Given the description of an element on the screen output the (x, y) to click on. 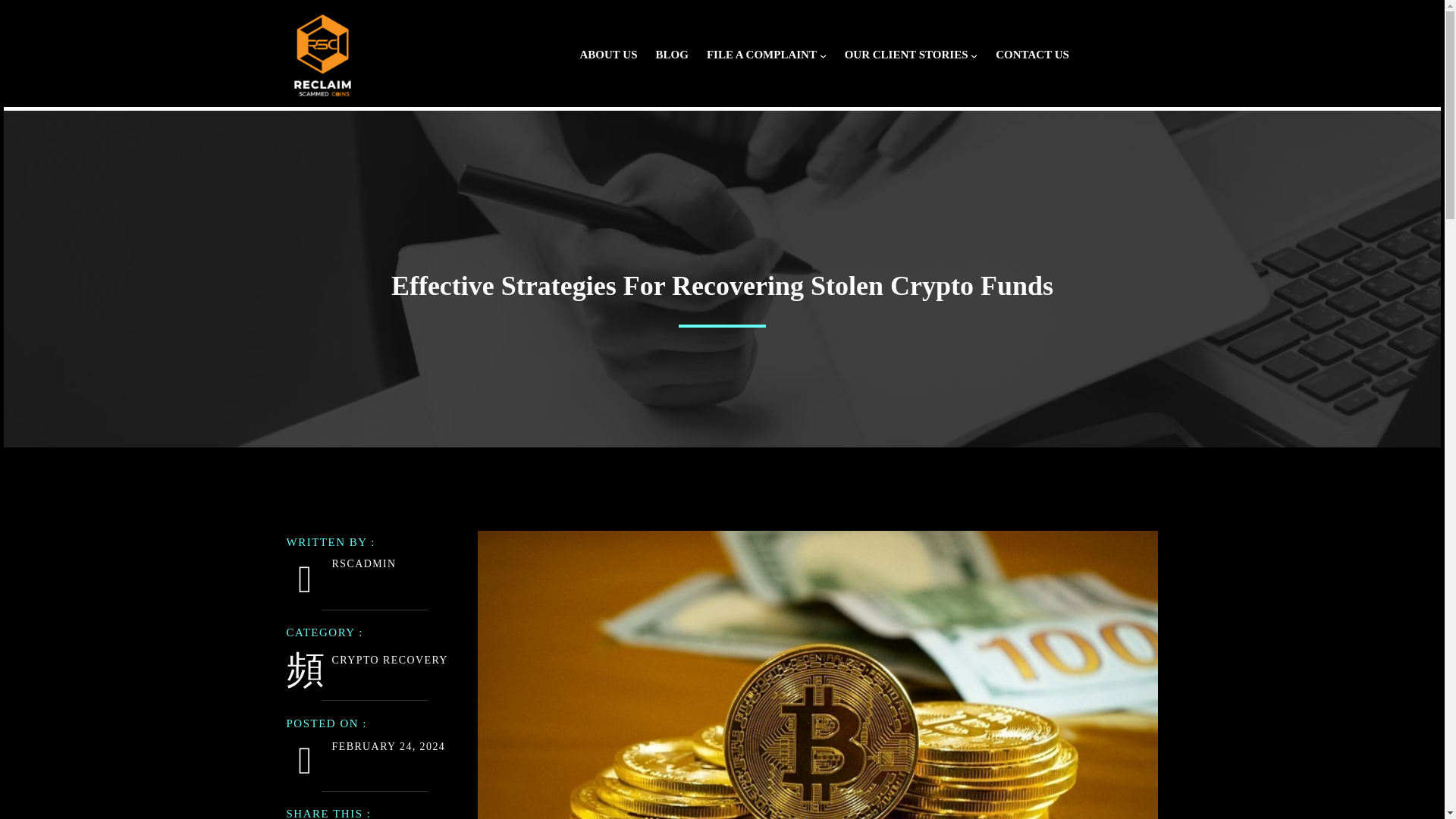
ABOUT US (608, 55)
BLOG (672, 55)
CONTACT US (1031, 55)
OUR CLIENT STORIES (906, 55)
FILE A COMPLAINT (761, 55)
